Given the description of an element on the screen output the (x, y) to click on. 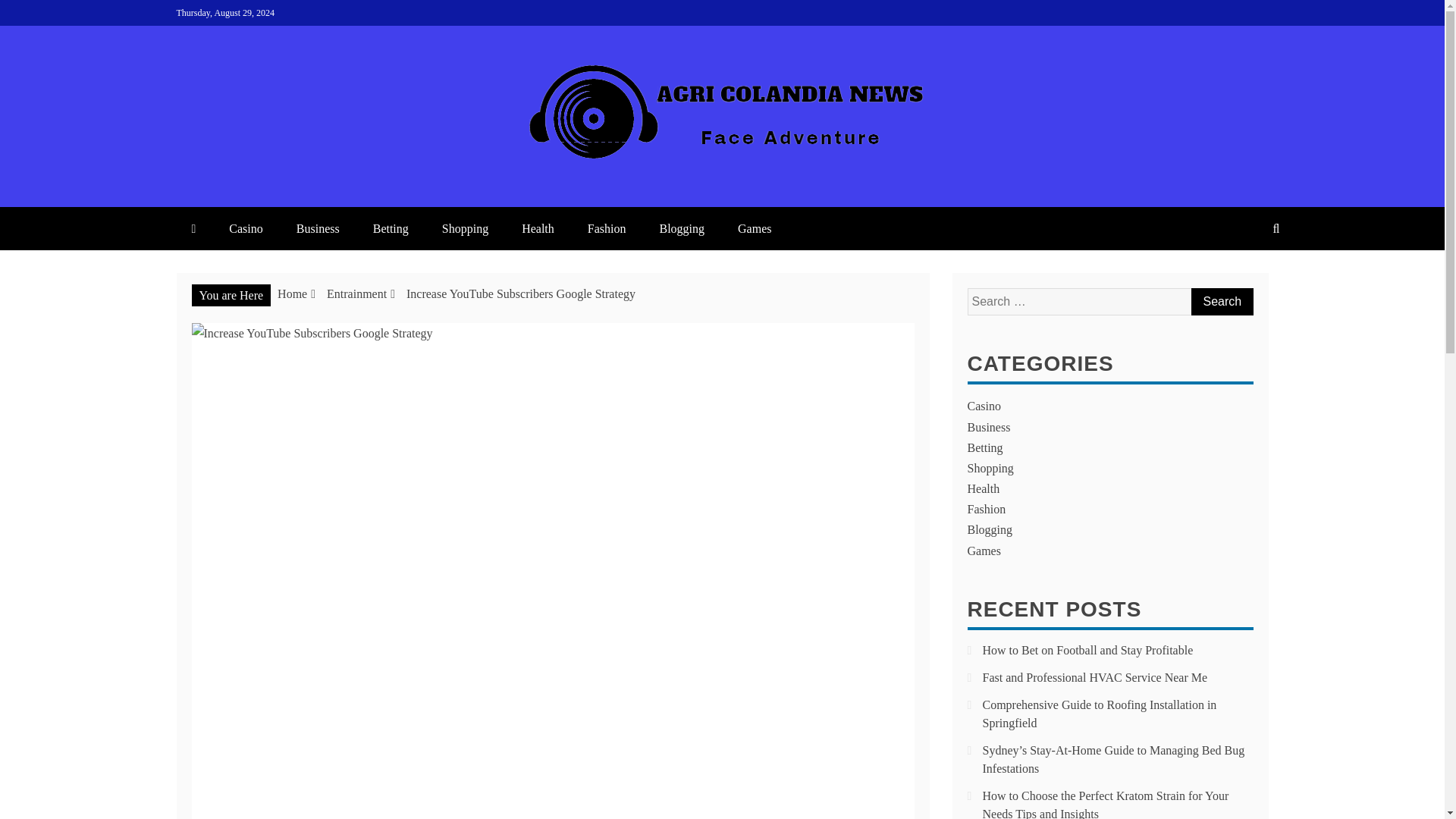
Casino (246, 228)
Blogging (681, 228)
Games (984, 550)
How to Bet on Football and Stay Profitable (1087, 649)
Blogging (990, 529)
Health (537, 228)
Search (1221, 301)
Fashion (987, 508)
Search (1221, 301)
Business (989, 427)
